Given the description of an element on the screen output the (x, y) to click on. 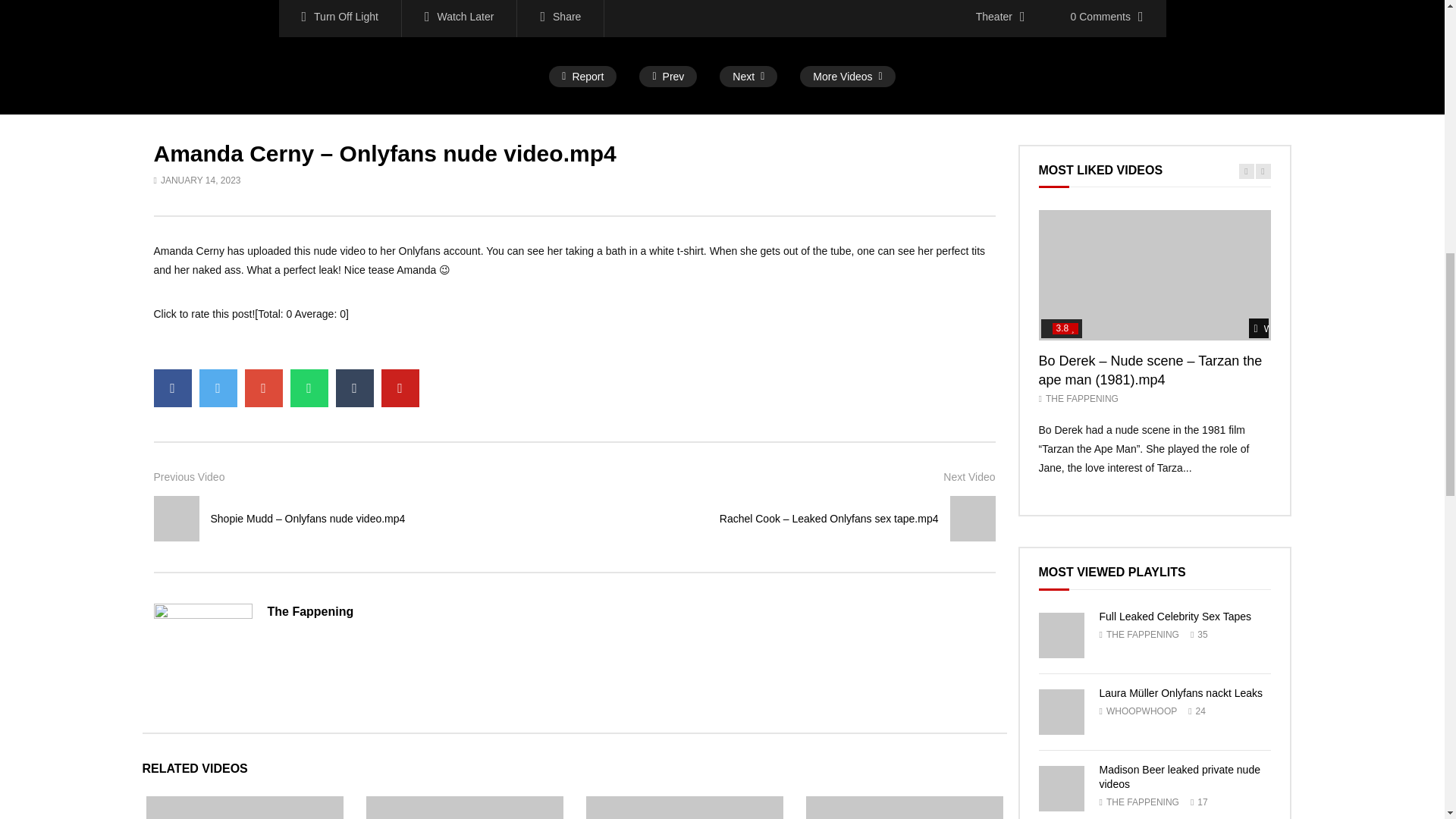
Next (748, 76)
0 Comments (1107, 18)
Prev (668, 76)
